Given the description of an element on the screen output the (x, y) to click on. 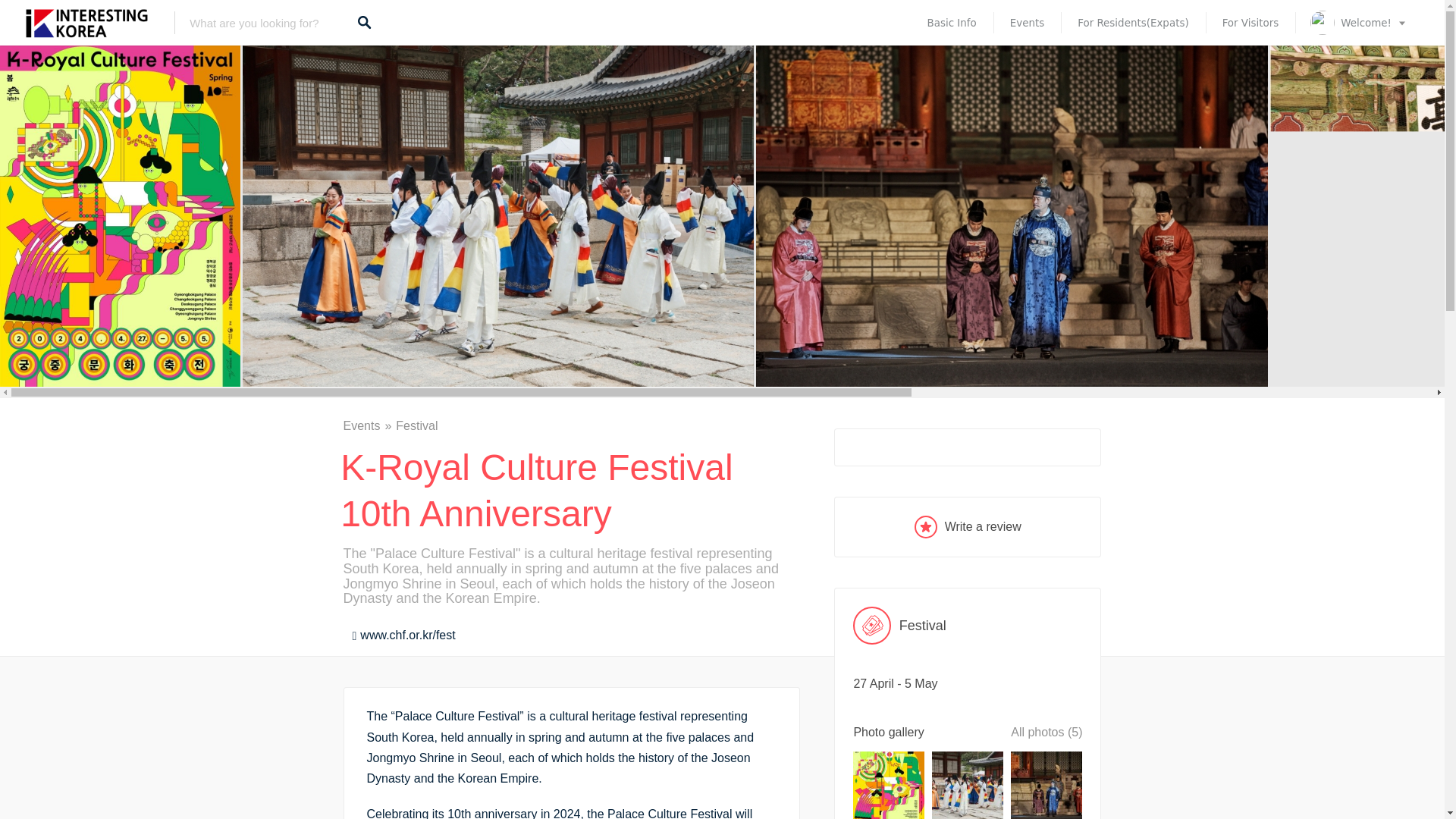
Basic Info (951, 22)
Festival (417, 425)
Welcome! (1358, 22)
Events (1026, 22)
Events (369, 425)
Write a review (968, 526)
Festival (967, 625)
For Visitors (1250, 22)
